Given the description of an element on the screen output the (x, y) to click on. 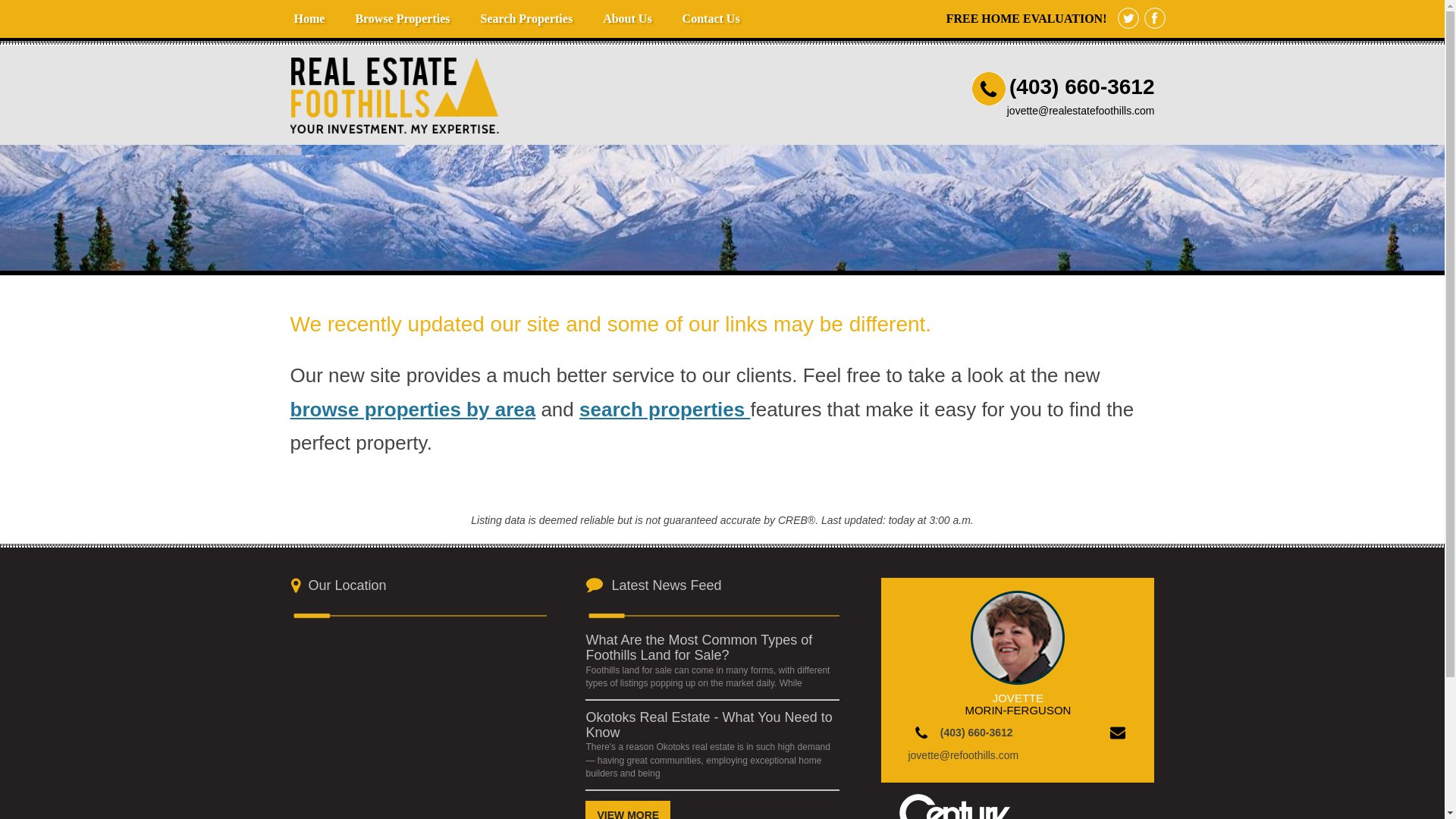
Skip to content (314, 7)
About Us (627, 18)
search properties (664, 409)
VIEW MORE (627, 809)
browse properties by area (412, 409)
Browse Properties (401, 18)
Contact Us (710, 18)
Skip to content (314, 7)
Search Properties (526, 18)
Home (309, 18)
